Given the description of an element on the screen output the (x, y) to click on. 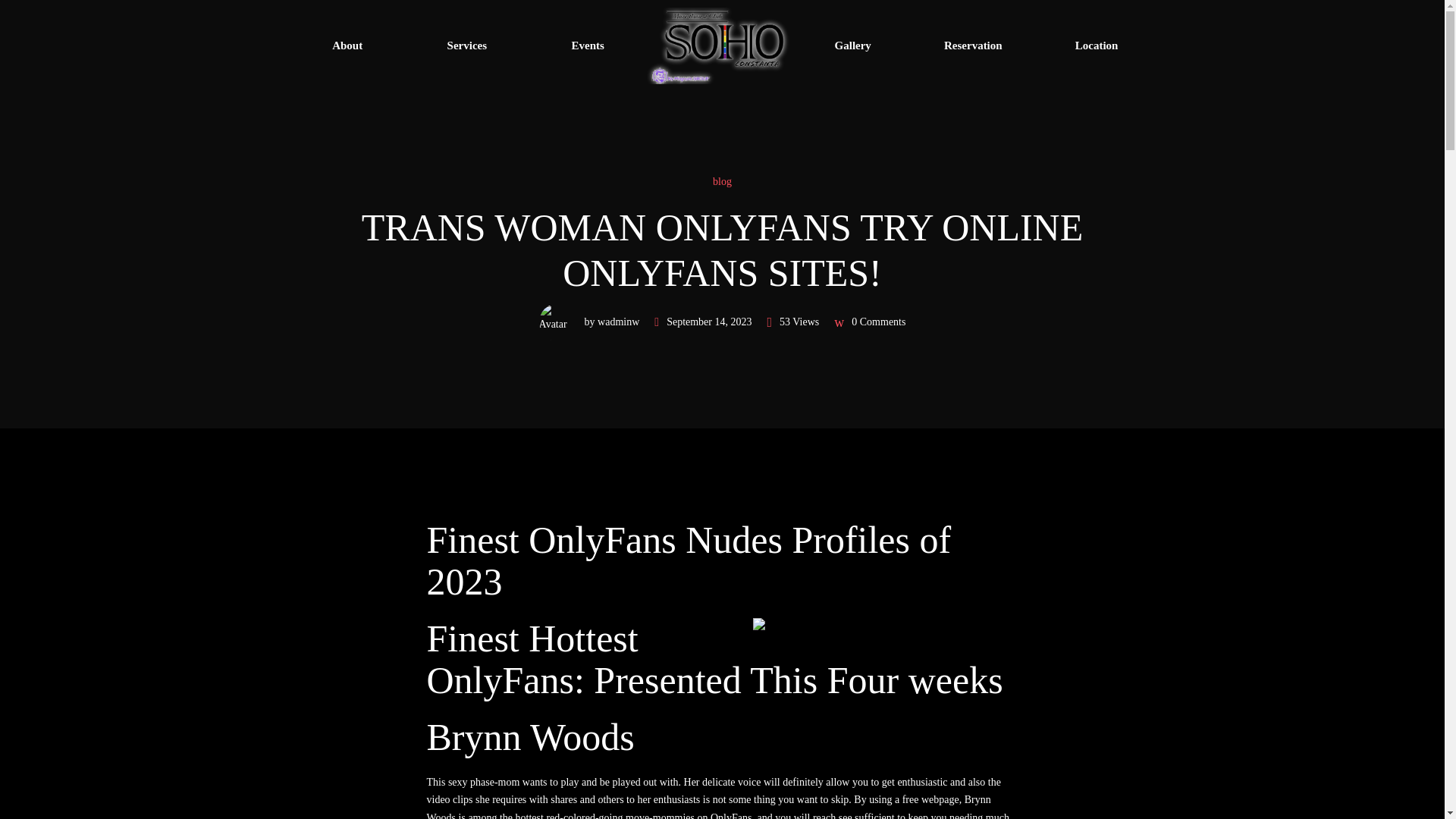
Services (466, 45)
Gravatar for wadminw (557, 322)
Reservation (973, 45)
Location (1096, 45)
Events (587, 45)
blog (722, 181)
Gallery (852, 45)
About (346, 45)
